Given the description of an element on the screen output the (x, y) to click on. 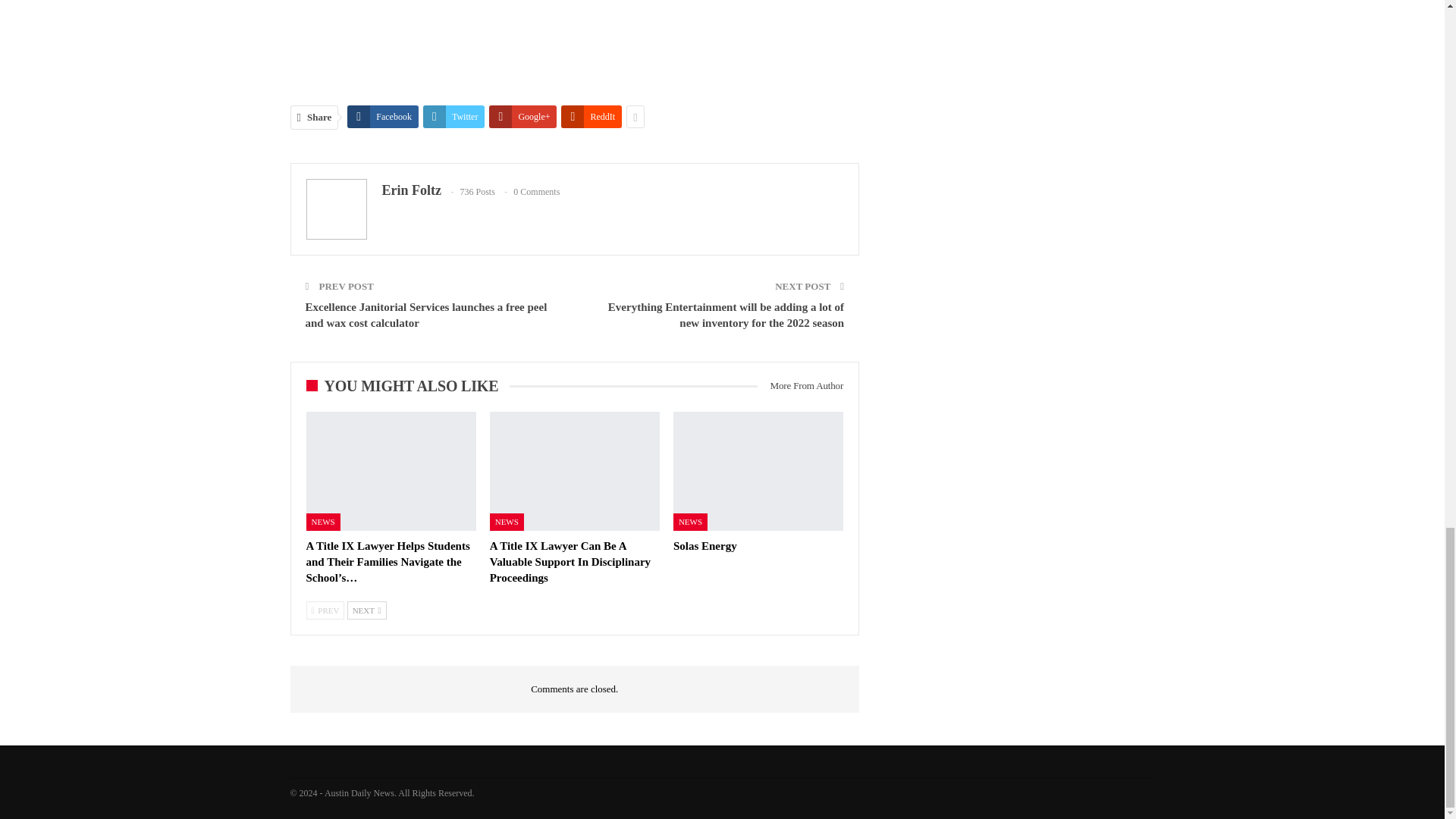
Solas Energy (757, 470)
Twitter (453, 116)
Previous (325, 610)
ReddIt (590, 116)
Solas Energy (704, 545)
Facebook (383, 116)
Next (367, 610)
